Given the description of an element on the screen output the (x, y) to click on. 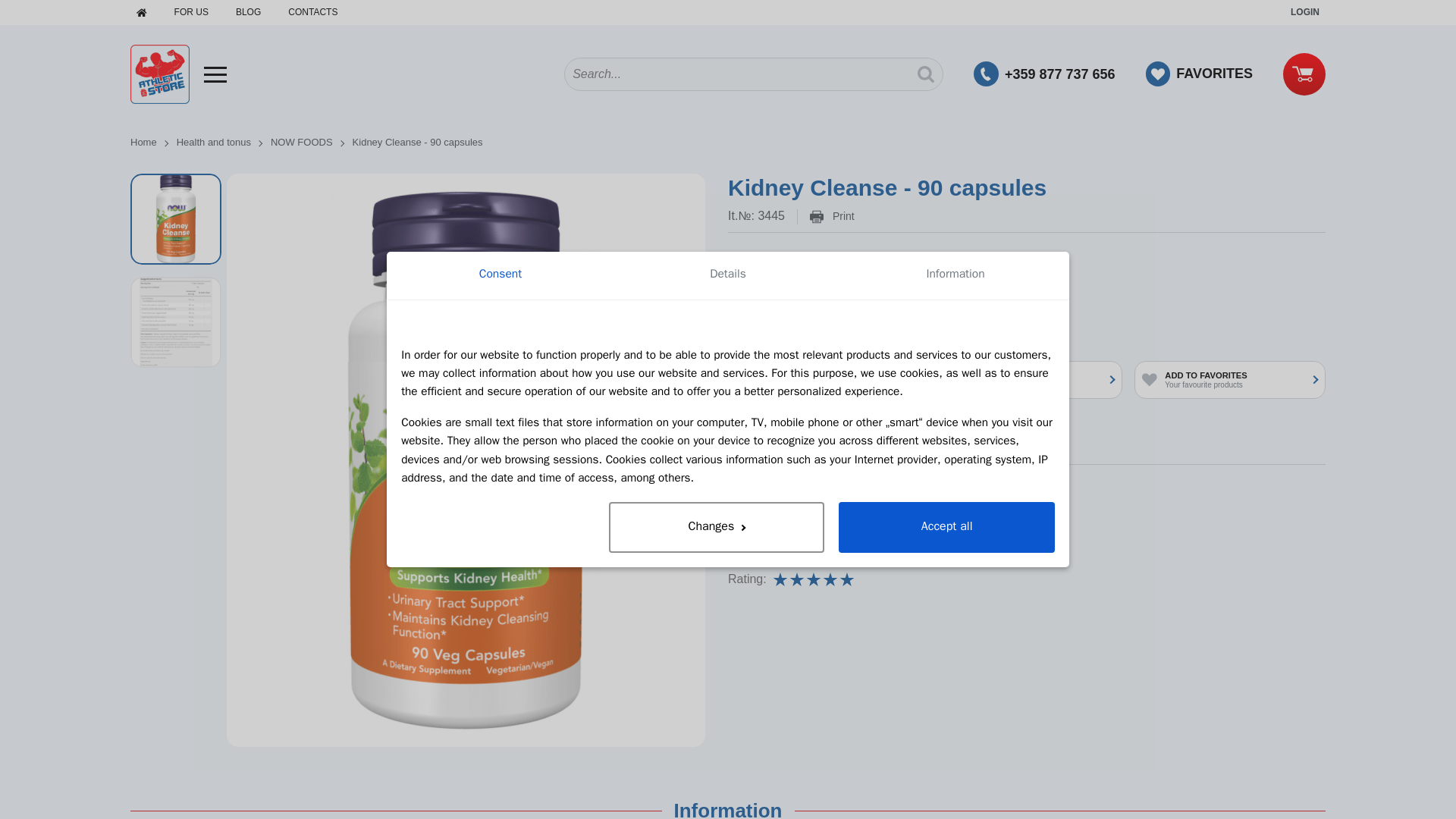
Contacts (312, 12)
1 (755, 329)
ADD TO CART (861, 328)
Delivery and payment (875, 288)
Health and tonus (788, 528)
Home (153, 142)
CONTACTS (312, 12)
For us (191, 12)
LOGIN (1304, 12)
NOW FOODS (311, 142)
